Given the description of an element on the screen output the (x, y) to click on. 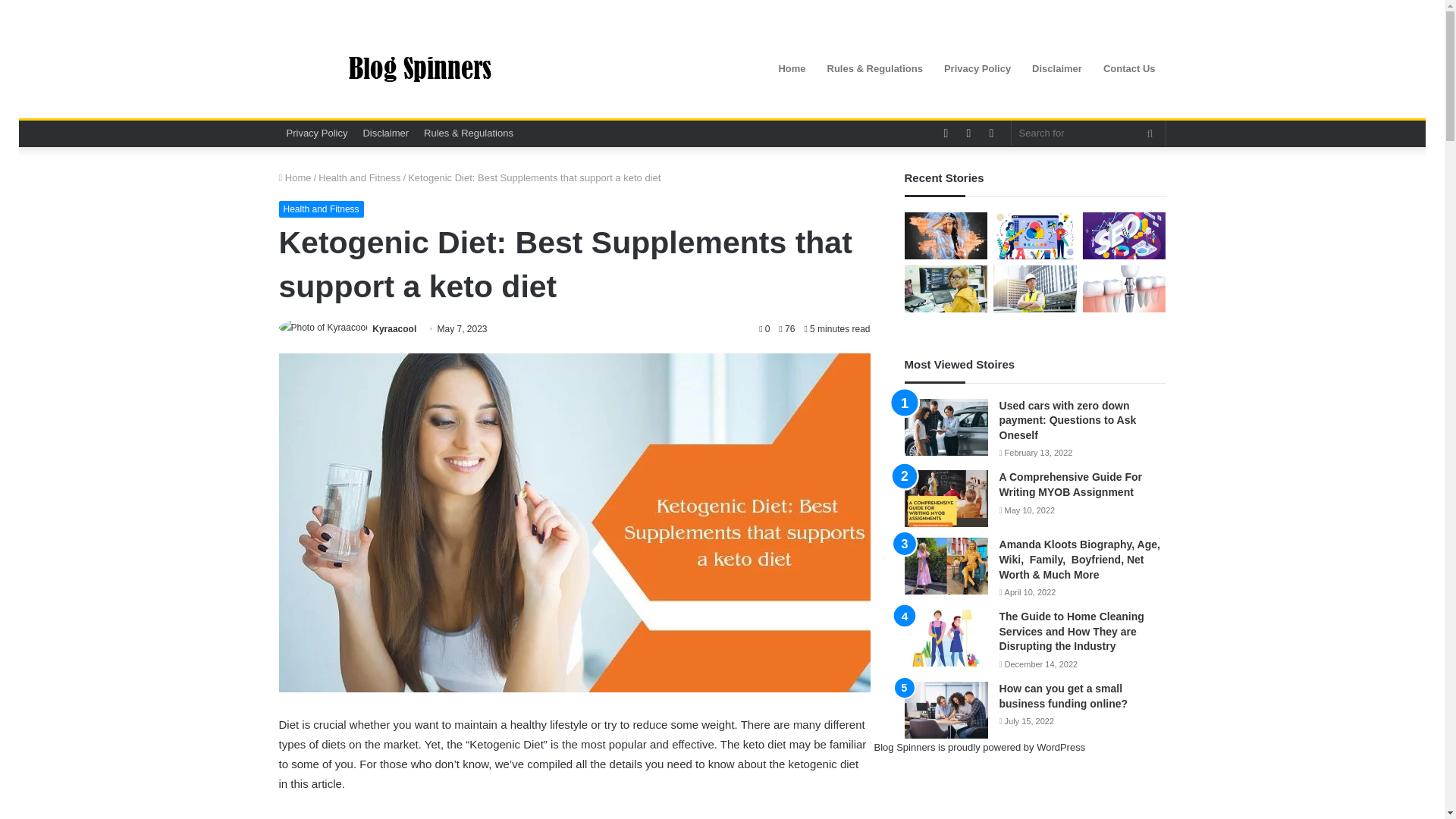
Kyraacool (394, 328)
Privacy Policy (977, 68)
Health and Fitness (359, 177)
Search for (1088, 132)
Kyraacool (394, 328)
Health and Fitness (321, 208)
Home (295, 177)
Privacy Policy (317, 132)
Blog Spinners (419, 69)
Search for (1150, 132)
Disclaimer (385, 132)
